Given the description of an element on the screen output the (x, y) to click on. 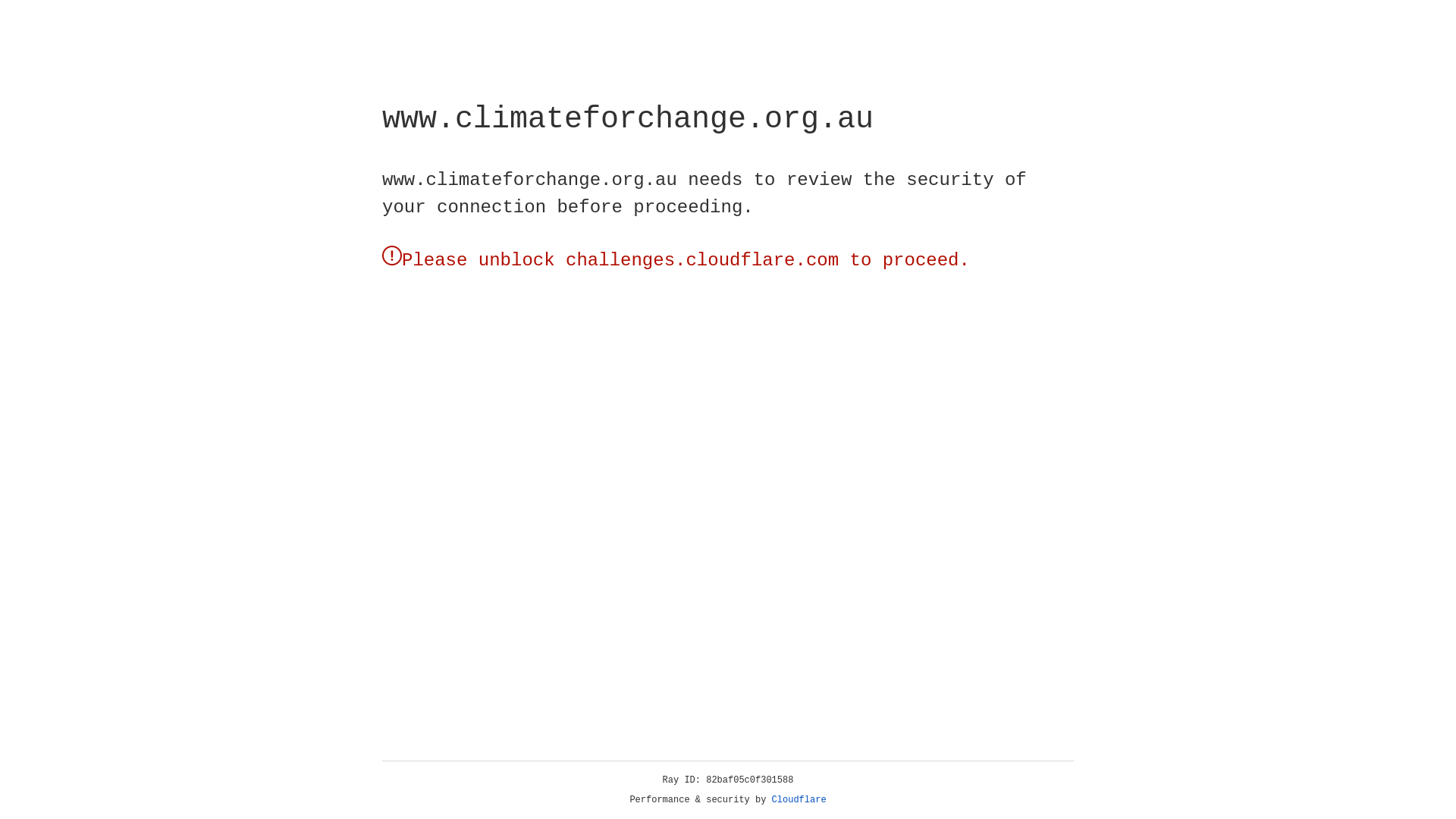
Cloudflare Element type: text (798, 799)
